Given the description of an element on the screen output the (x, y) to click on. 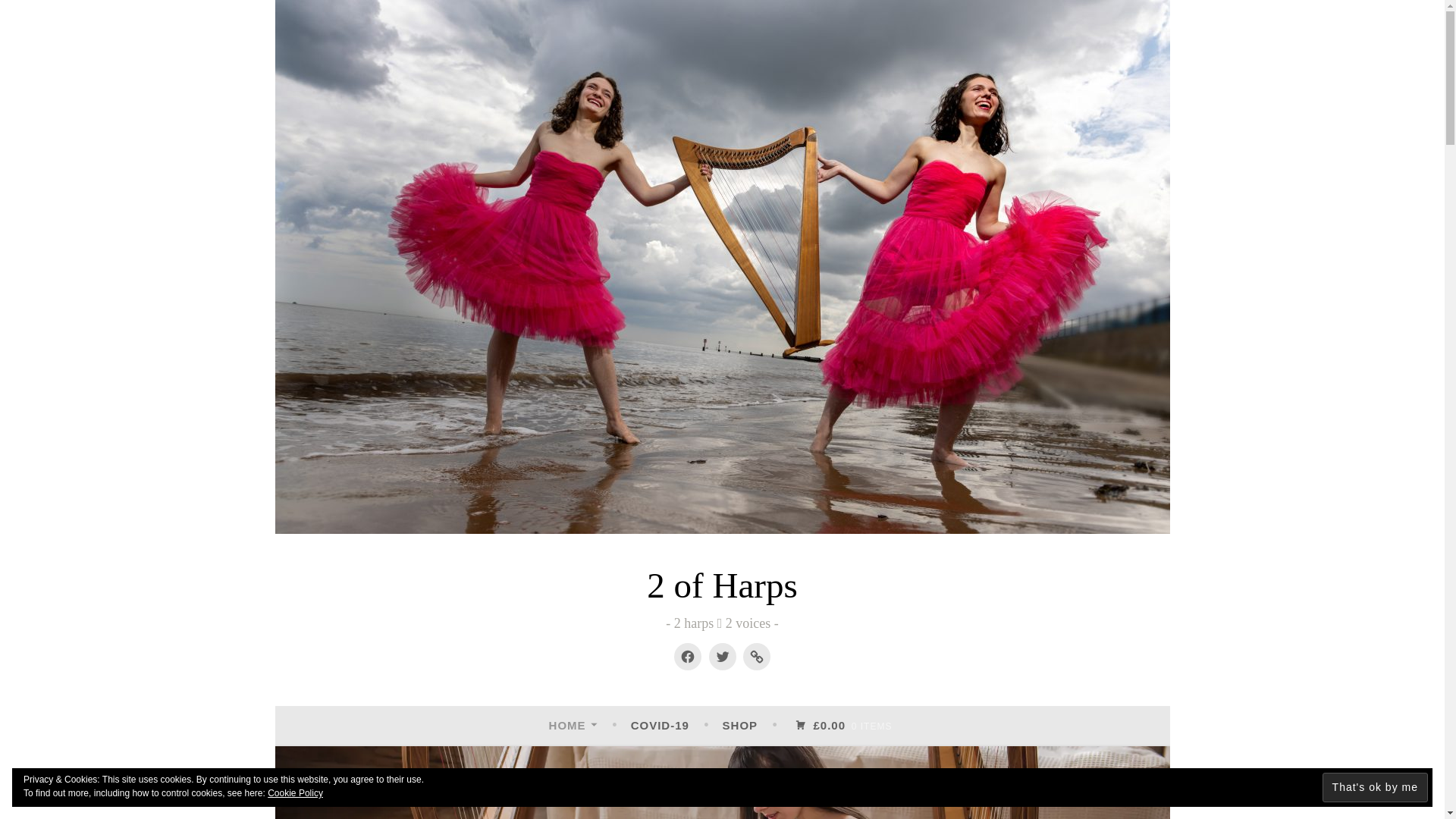
SHOP Element type: text (740, 725)
Twitter Element type: text (721, 656)
Facebook Element type: text (687, 656)
That's ok by me Element type: text (1374, 787)
2 of Harps Element type: text (721, 585)
COVID-19 Element type: text (659, 725)
Cookie Policy Element type: text (295, 792)
Instagram Element type: text (756, 656)
HOME Element type: text (573, 725)
